Given the description of an element on the screen output the (x, y) to click on. 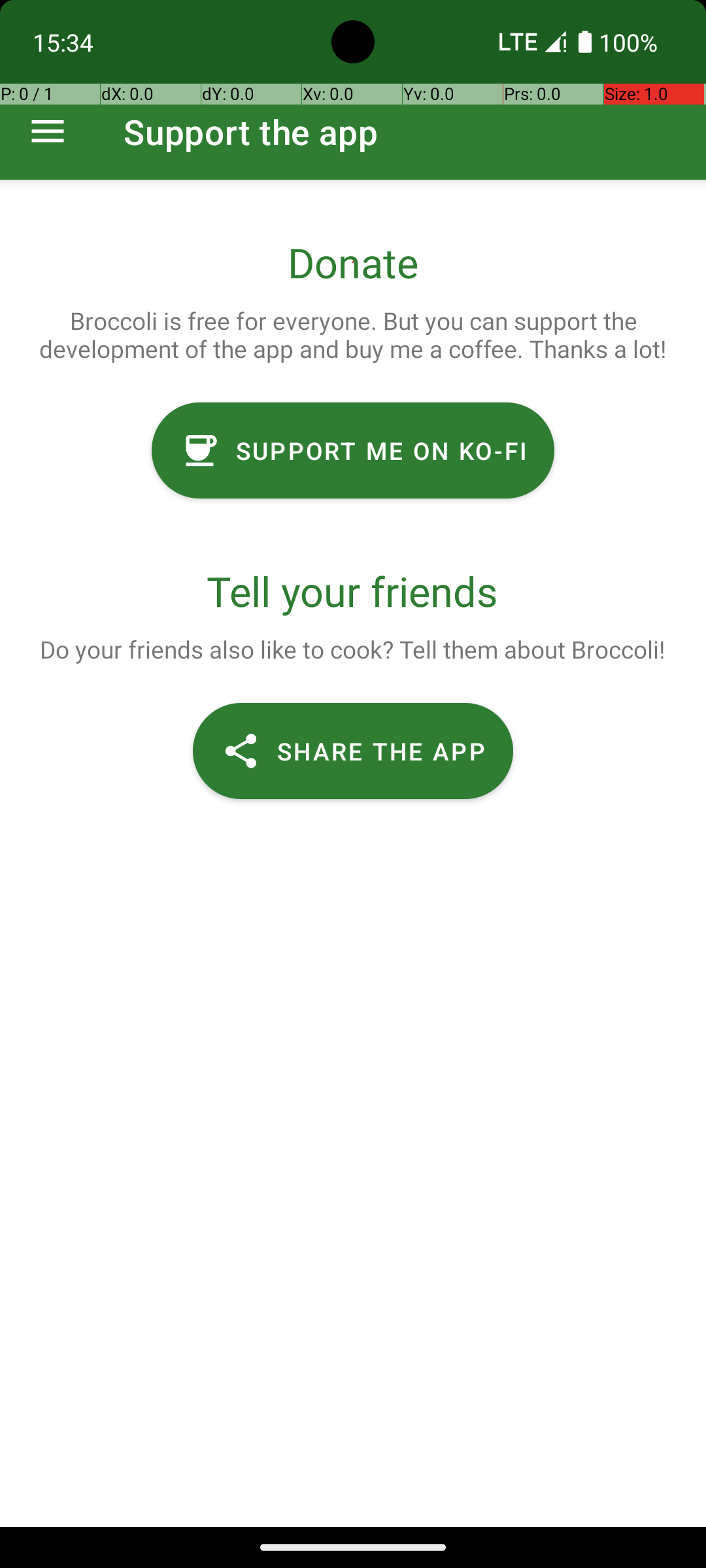
Broccoli is free for everyone. But you can support the development of the app and buy me a coffee. Thanks a lot! Element type: android.widget.TextView (352, 334)
SUPPORT ME ON KO-FI Element type: android.widget.Button (352, 450)
Tell your friends Element type: android.widget.TextView (352, 590)
Do your friends also like to cook? Tell them about Broccoli! Element type: android.widget.TextView (352, 648)
SHARE THE APP Element type: android.widget.Button (352, 750)
